Given the description of an element on the screen output the (x, y) to click on. 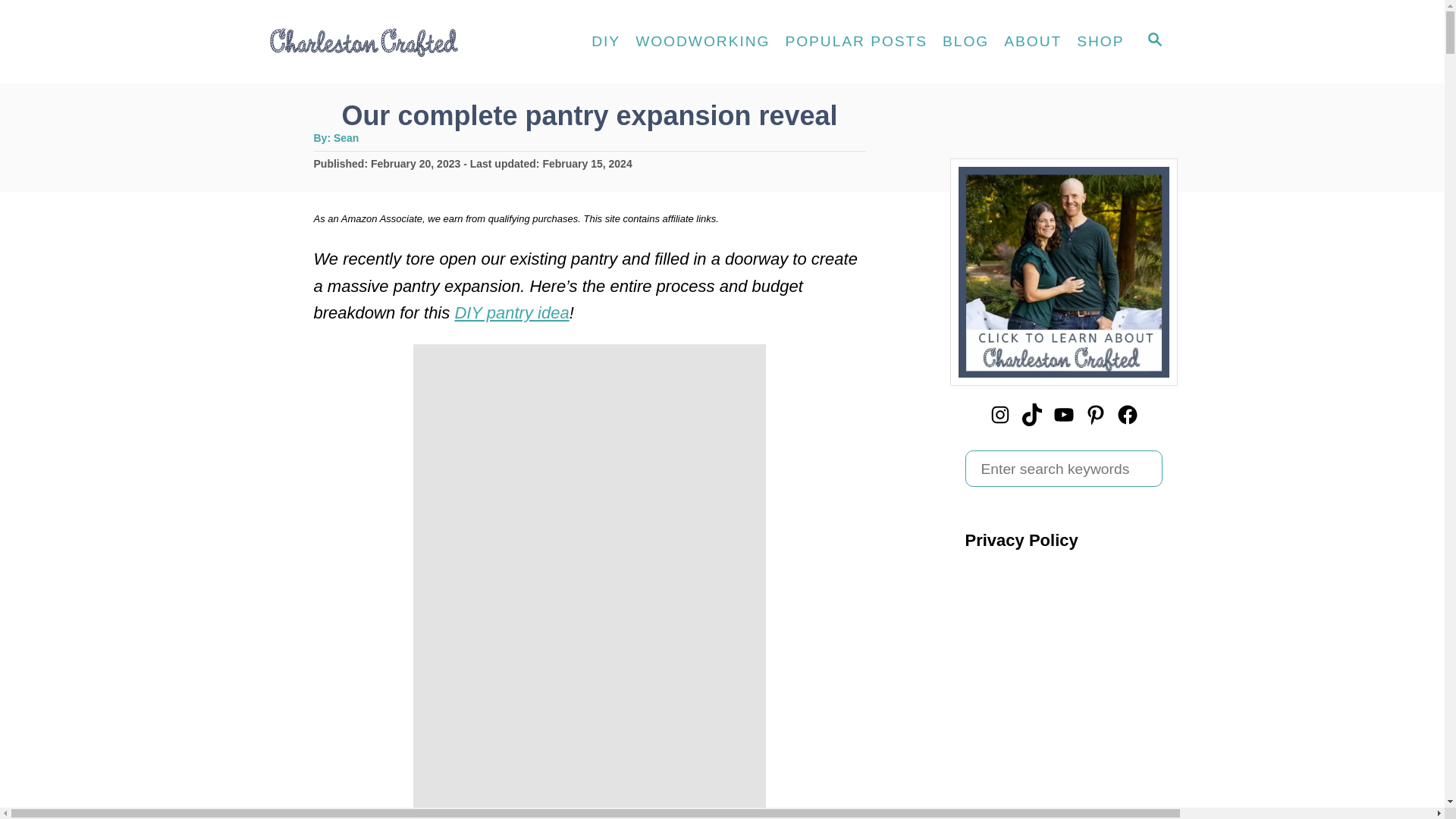
DIY (605, 41)
BLOG (964, 41)
Sean (345, 137)
WOODWORKING (702, 41)
POPULAR POSTS (855, 41)
SHOP (1099, 41)
Search for: (1062, 468)
DIY pantry idea (511, 312)
Charleston Crafted (402, 41)
ABOUT (1031, 41)
